Given the description of an element on the screen output the (x, y) to click on. 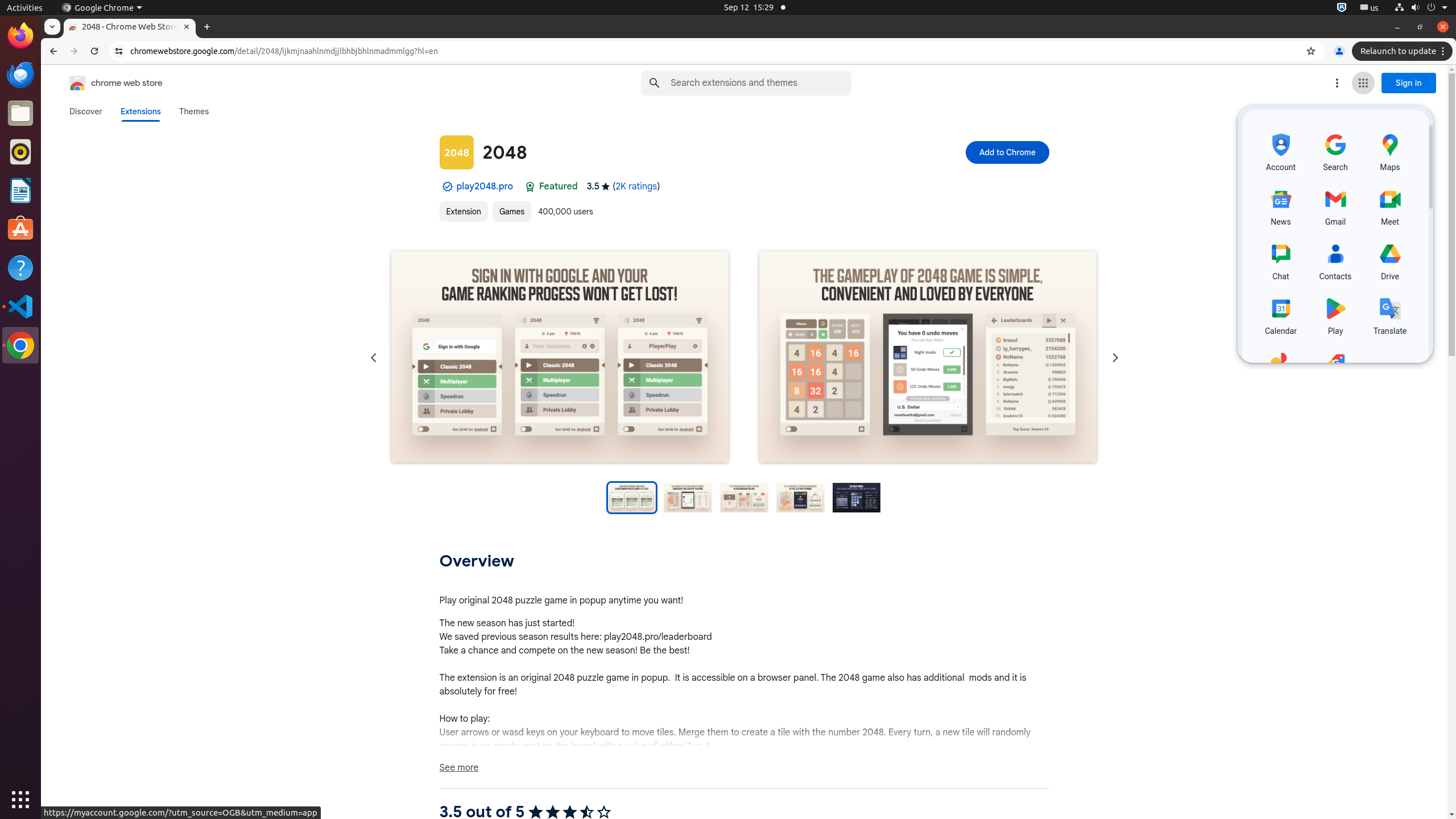
Preview slide 1 Element type: push-button (631, 497)
By Established Publisher Badge Element type: push-button (447, 186)
You Element type: push-button (1339, 50)
Ubuntu Software Element type: push-button (20, 229)
Bookmark this tab Element type: push-button (1310, 51)
